Given the description of an element on the screen output the (x, y) to click on. 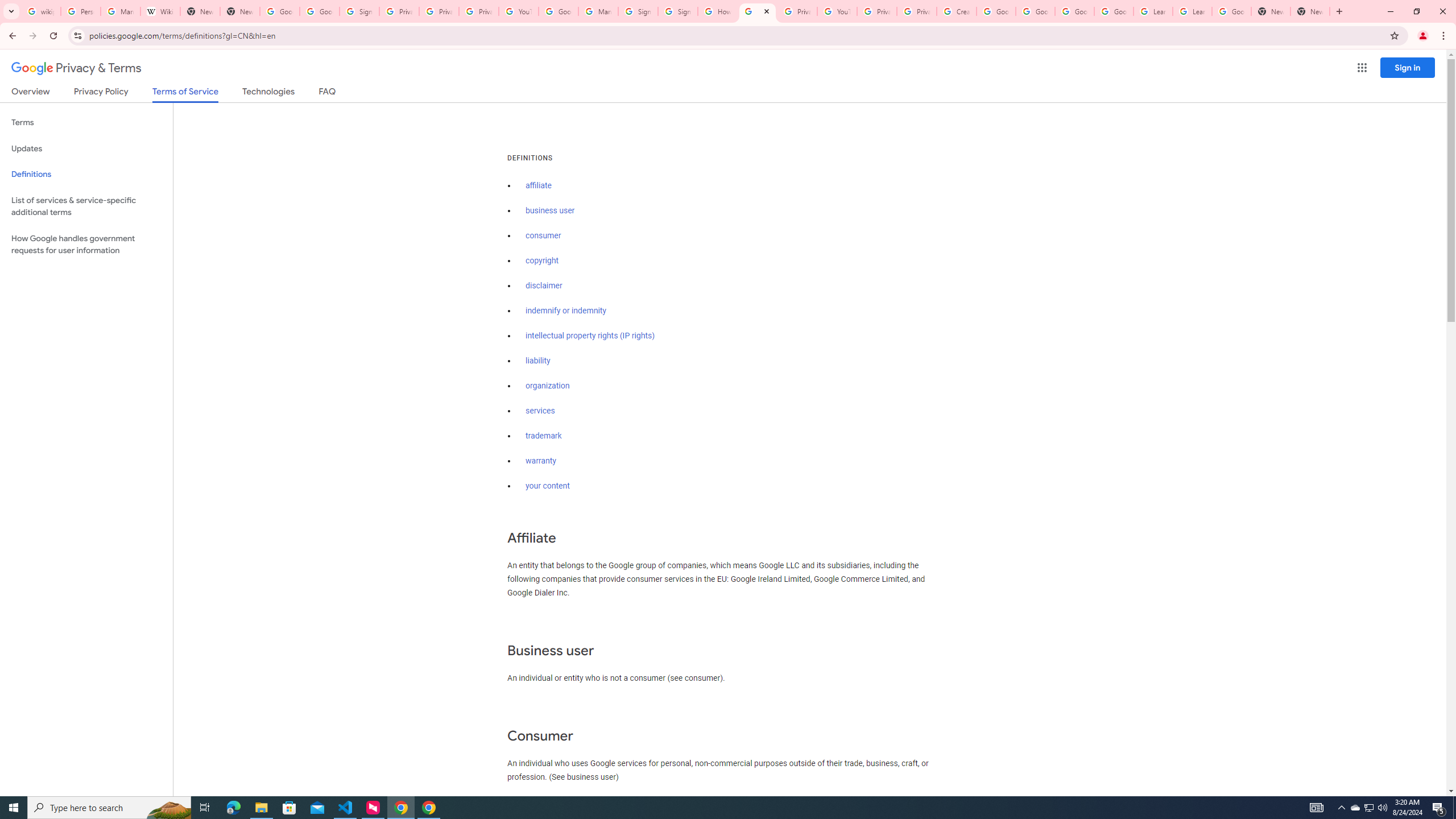
intellectual property rights (IP rights) (590, 335)
disclaimer (543, 285)
Sign in - Google Accounts (637, 11)
Google Account Help (1113, 11)
warranty (540, 461)
New Tab (1310, 11)
copyright (542, 260)
Google Drive: Sign-in (319, 11)
